Given the description of an element on the screen output the (x, y) to click on. 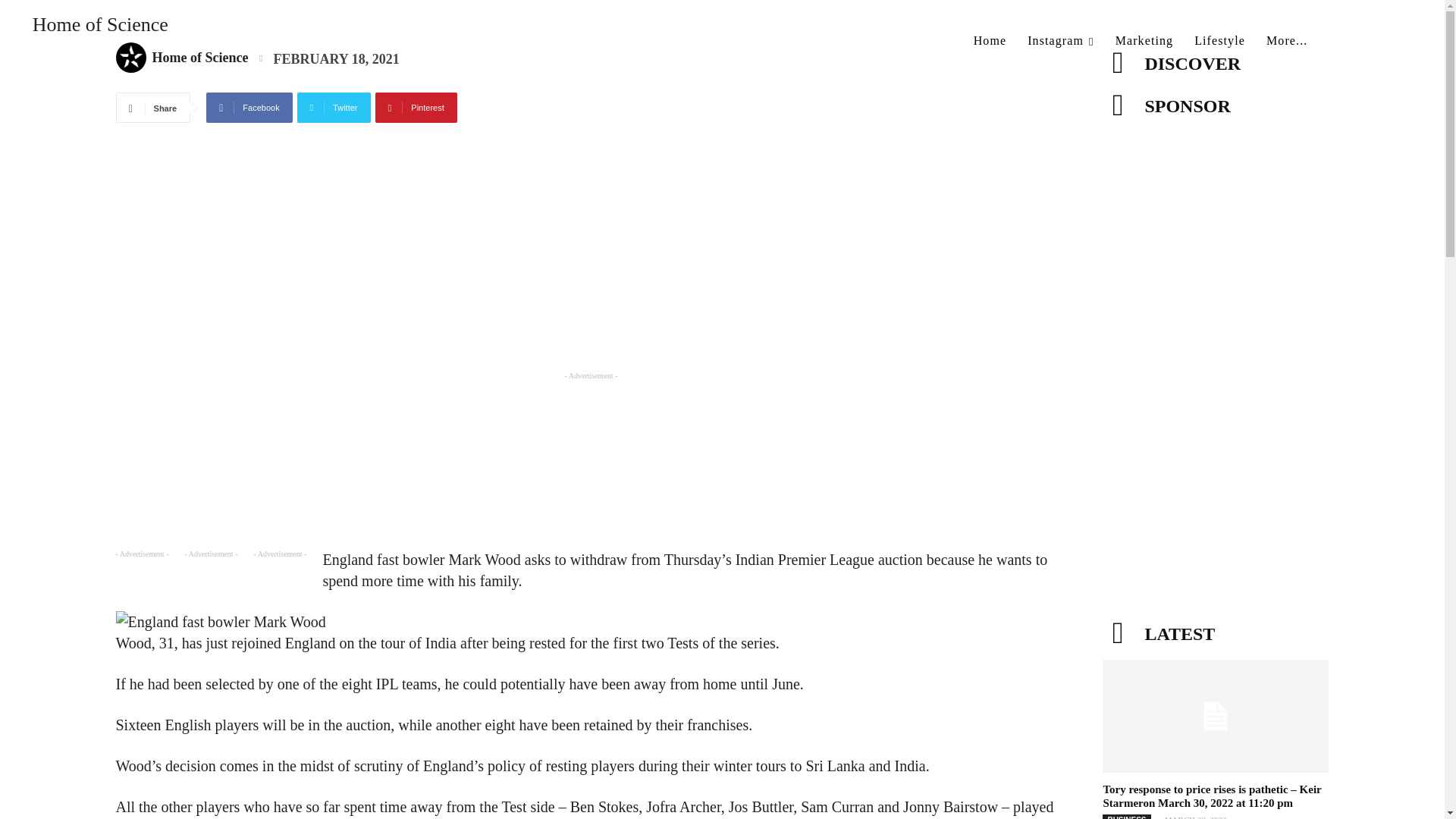
Instagram (1059, 40)
Home of Science (91, 32)
Home (989, 40)
